Given the description of an element on the screen output the (x, y) to click on. 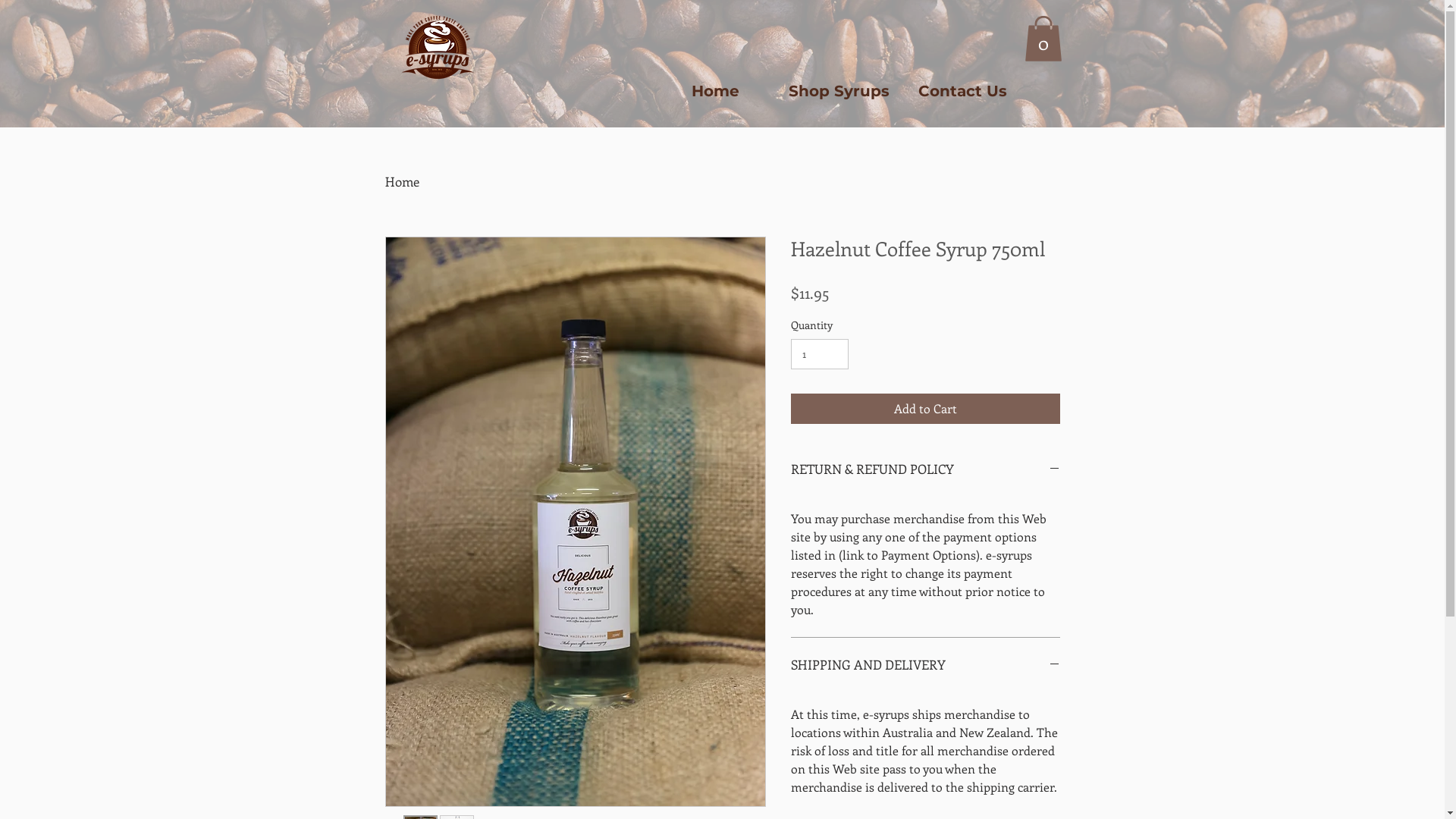
Home Element type: text (715, 91)
Home Element type: text (402, 180)
RETURN & REFUND POLICY Element type: text (924, 469)
Contact Us Element type: text (962, 91)
Shop Syrups Element type: text (838, 91)
0 Element type: text (1042, 38)
Add to Cart Element type: text (924, 408)
SHIPPING AND DELIVERY Element type: text (924, 664)
